Given the description of an element on the screen output the (x, y) to click on. 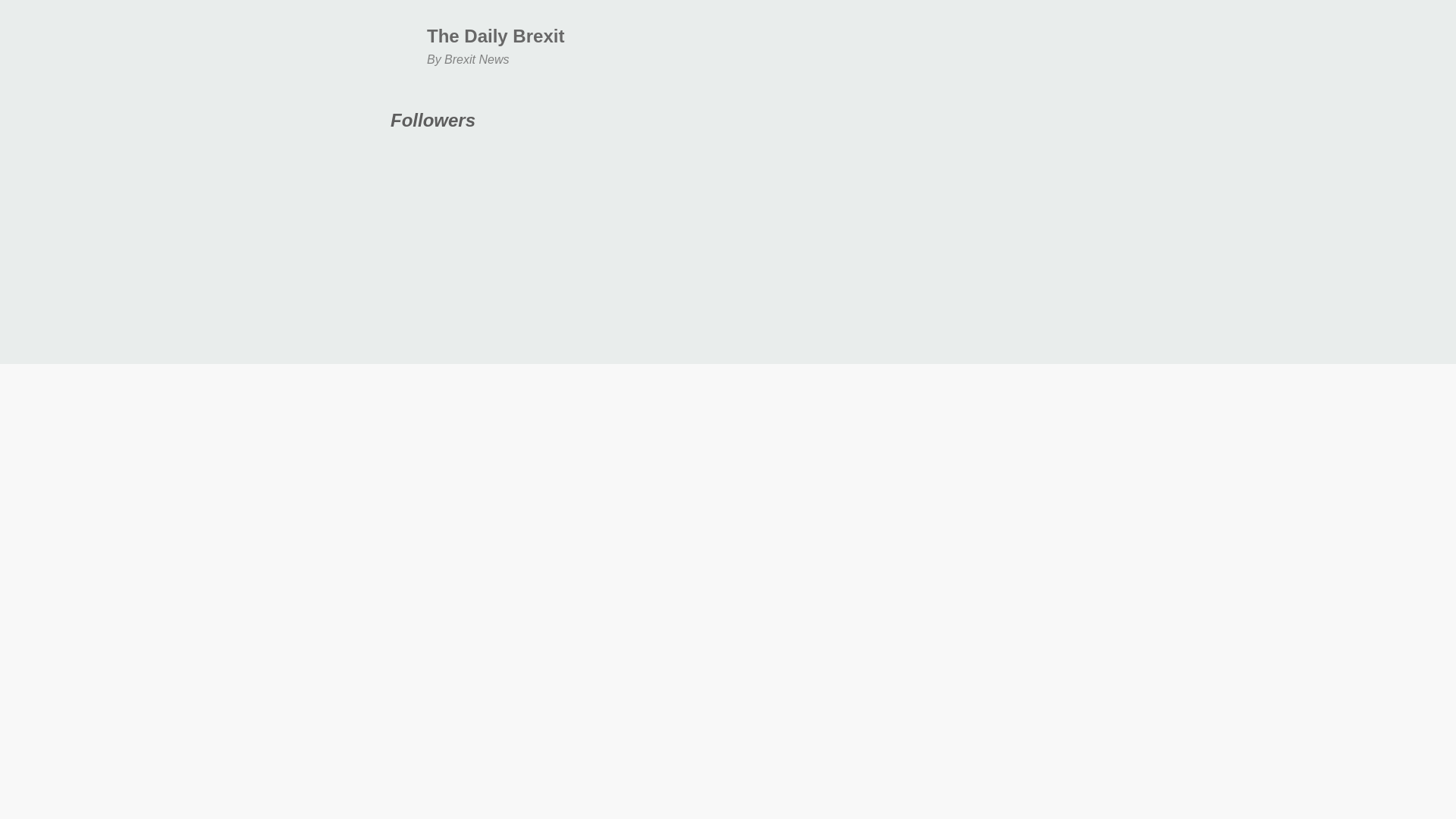
Search (32, 18)
The Daily Brexit (495, 35)
